Given the description of an element on the screen output the (x, y) to click on. 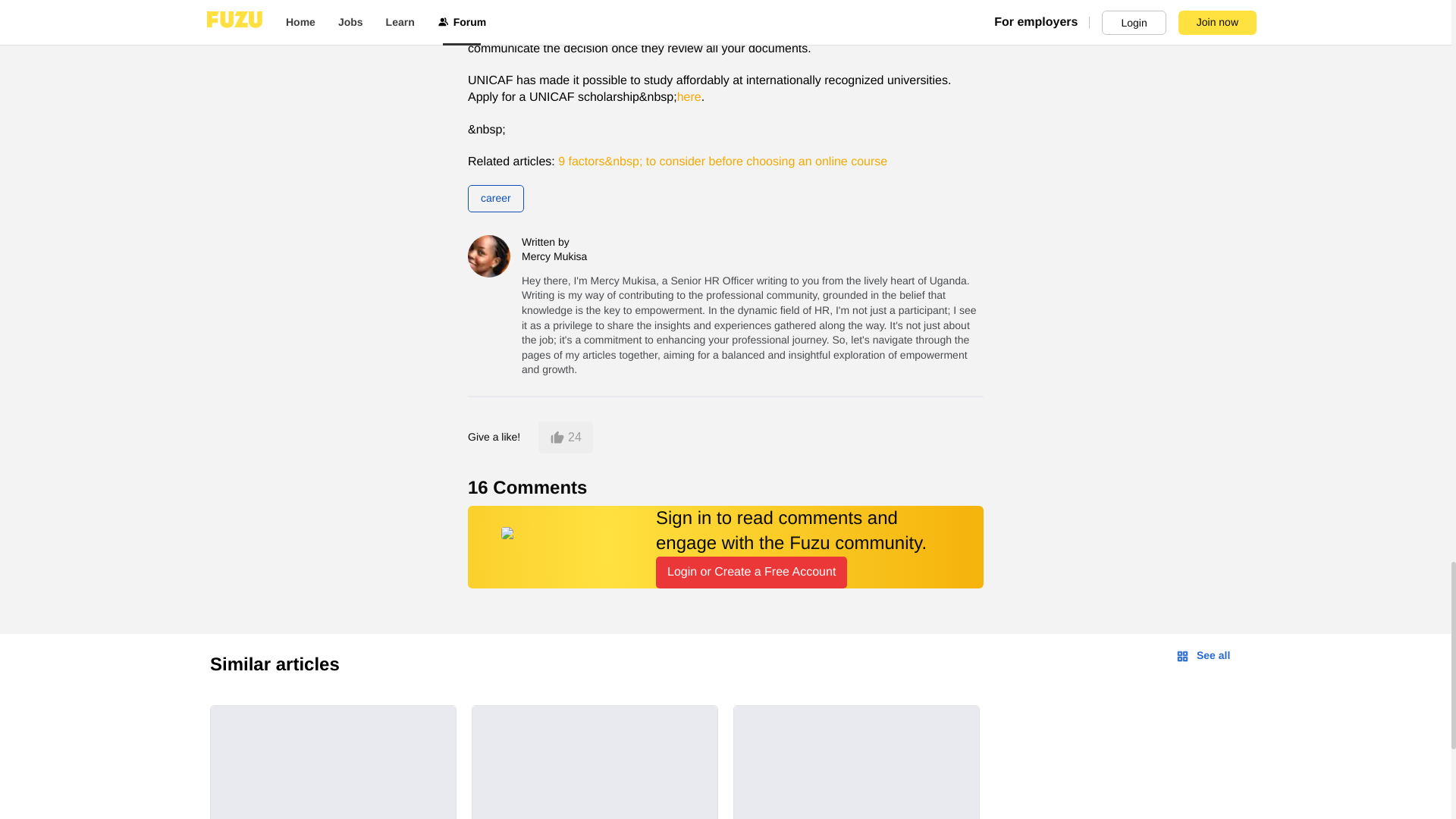
Login or Create a Free Account (751, 572)
here (689, 97)
See all (1202, 655)
career (495, 198)
24 (565, 437)
